Given the description of an element on the screen output the (x, y) to click on. 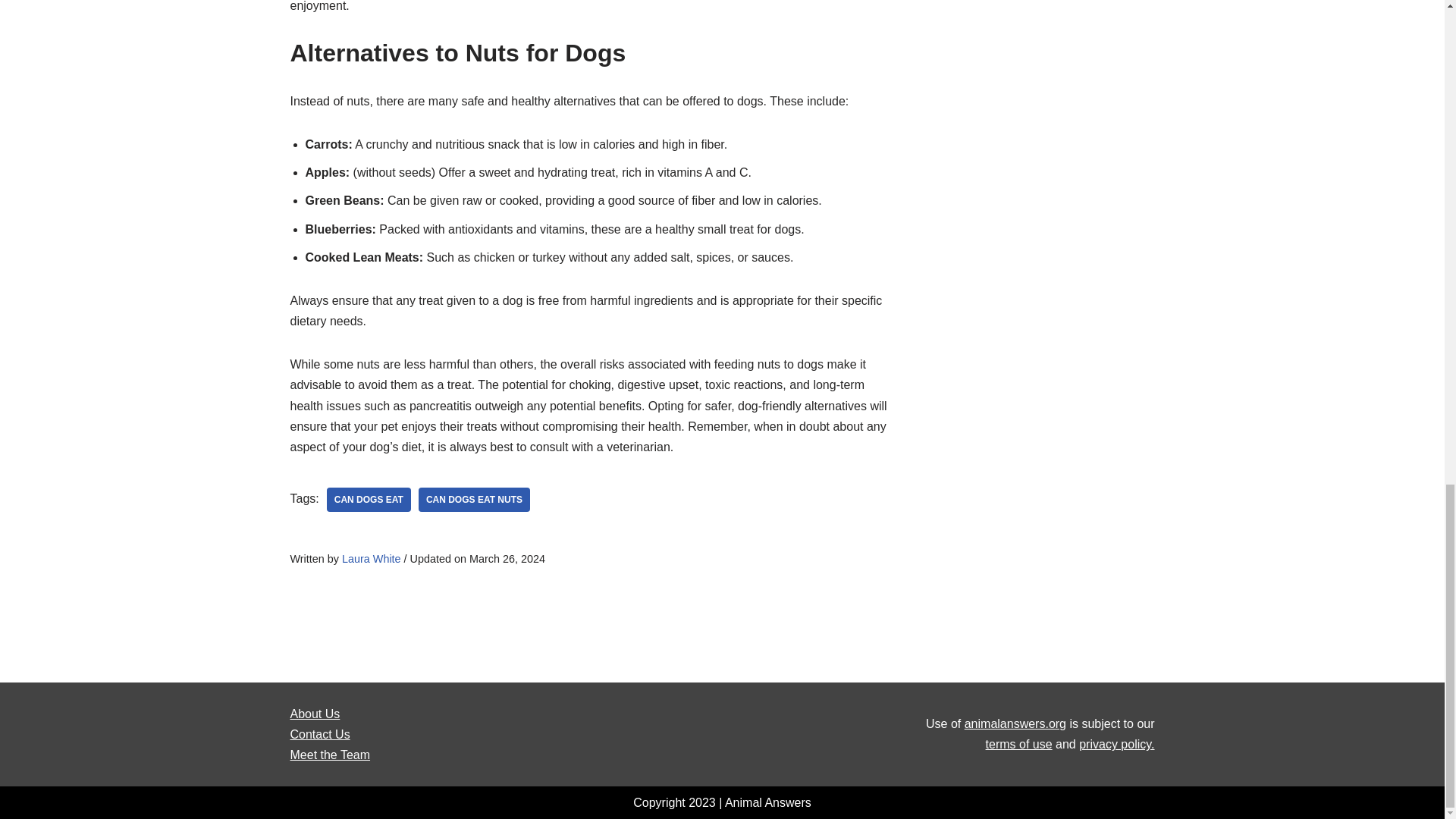
Can Dogs Eat Nuts (474, 499)
Can Dogs Eat (368, 499)
Posts by Laura White (371, 558)
